Given the description of an element on the screen output the (x, y) to click on. 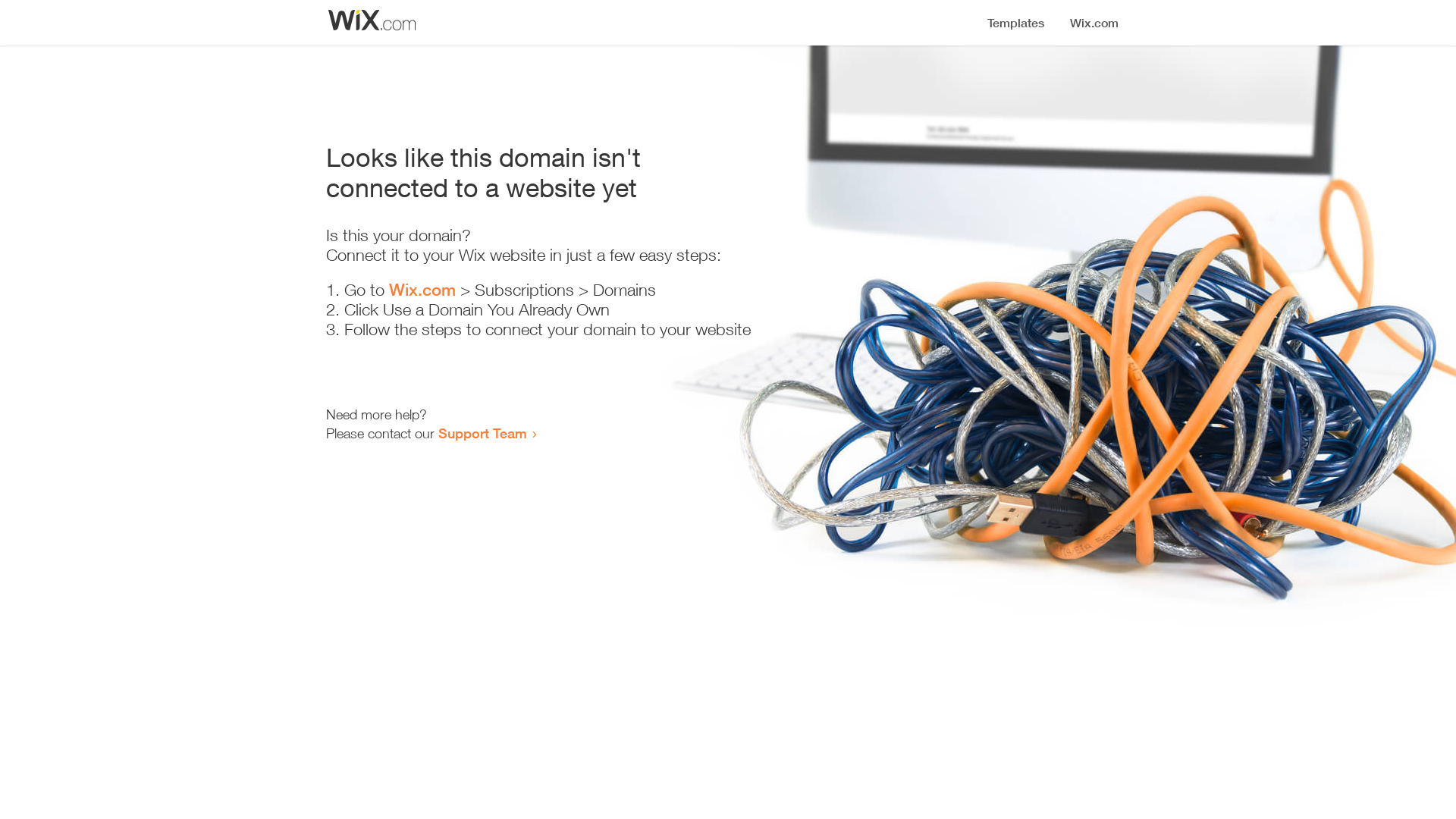
Wix.com Element type: text (422, 289)
Support Team Element type: text (482, 432)
